Given the description of an element on the screen output the (x, y) to click on. 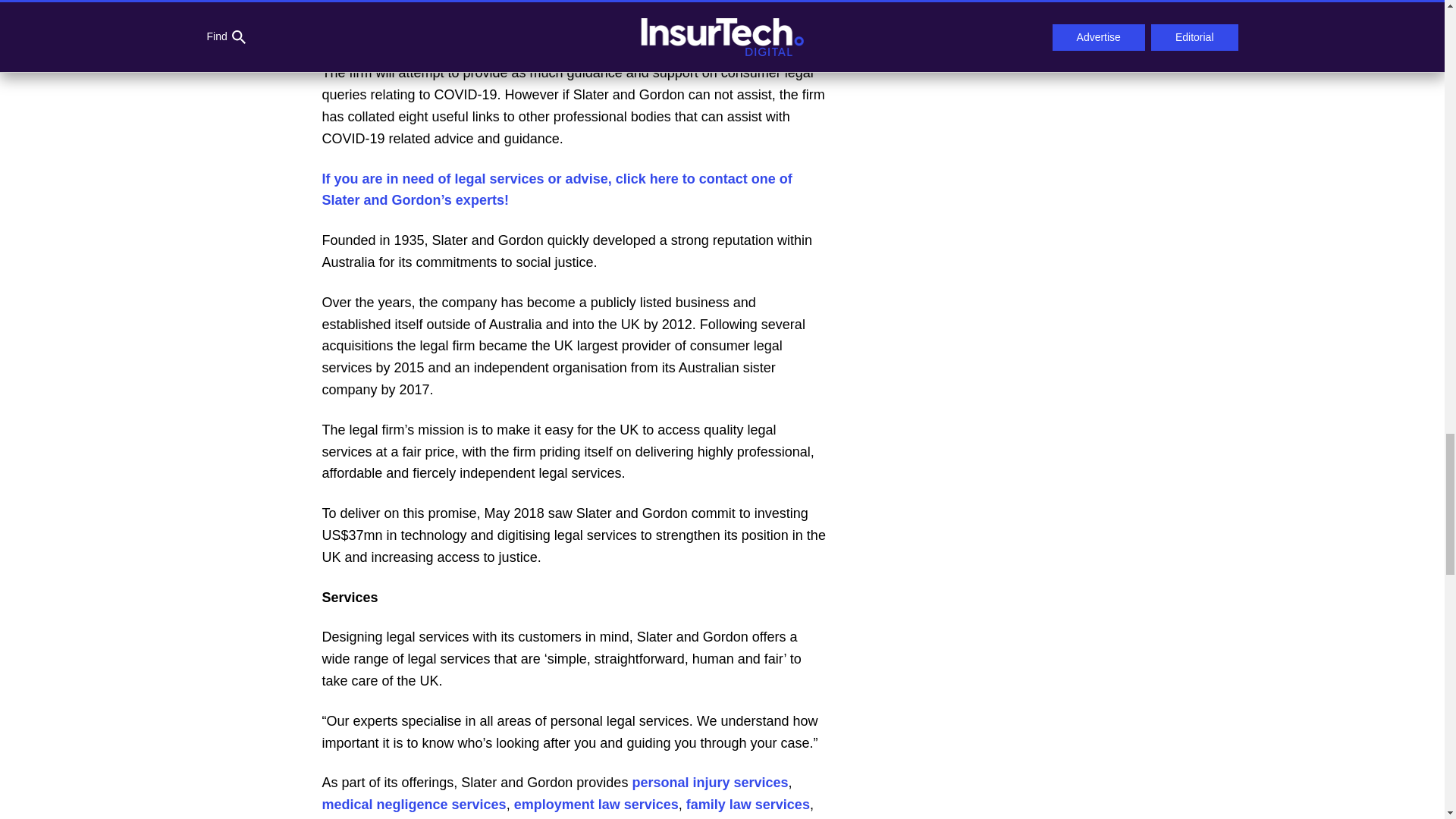
employment law services (595, 804)
personal injury services (709, 782)
medical negligence services (413, 804)
family law services (747, 804)
